Given the description of an element on the screen output the (x, y) to click on. 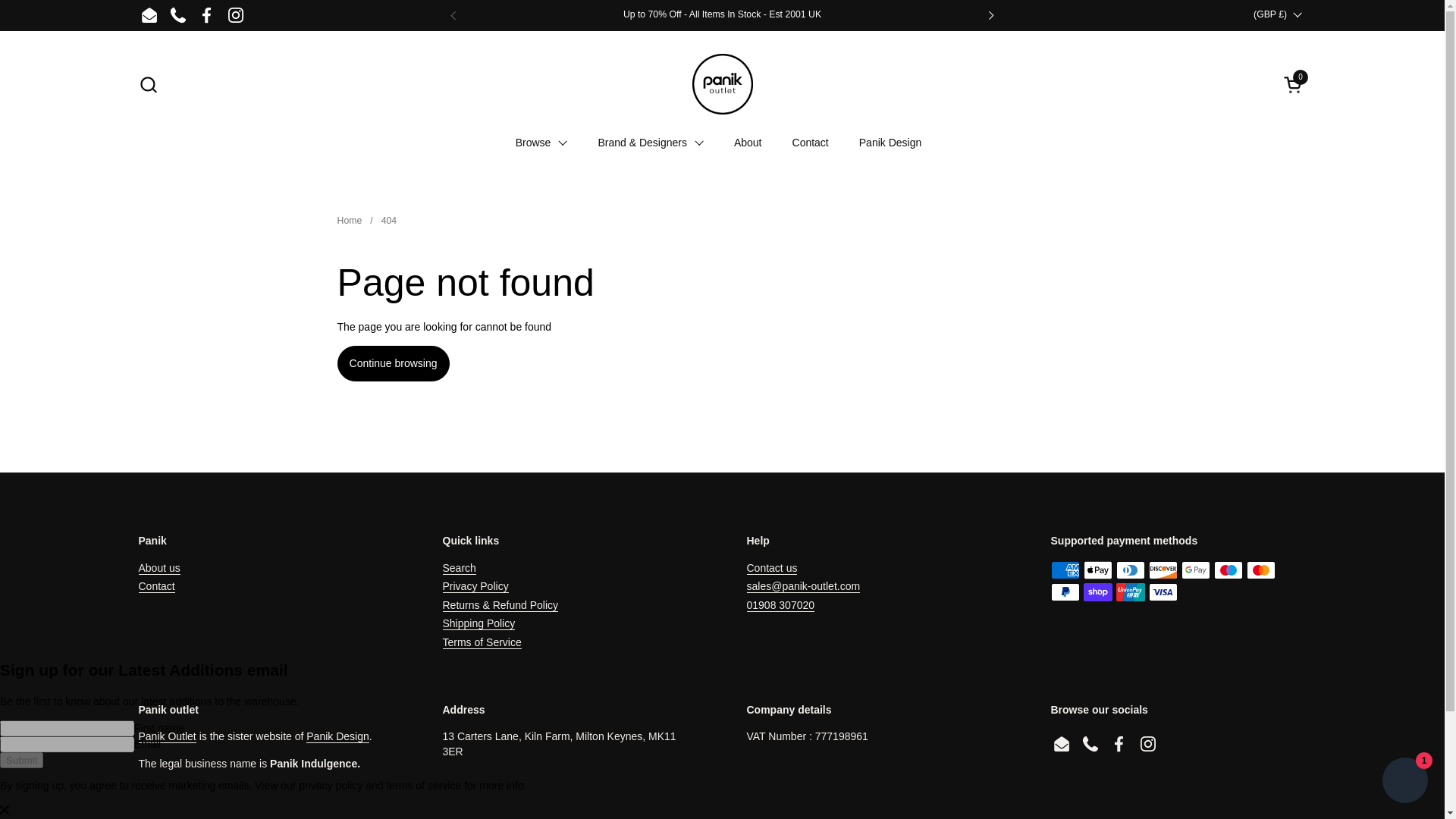
Open search (147, 83)
Browse (541, 142)
Shopify online store chat (1404, 781)
Instagram (235, 14)
Facebook (206, 14)
Phone (1294, 83)
Open cart (177, 14)
Email (1294, 83)
Panik Outlet (149, 14)
